Given the description of an element on the screen output the (x, y) to click on. 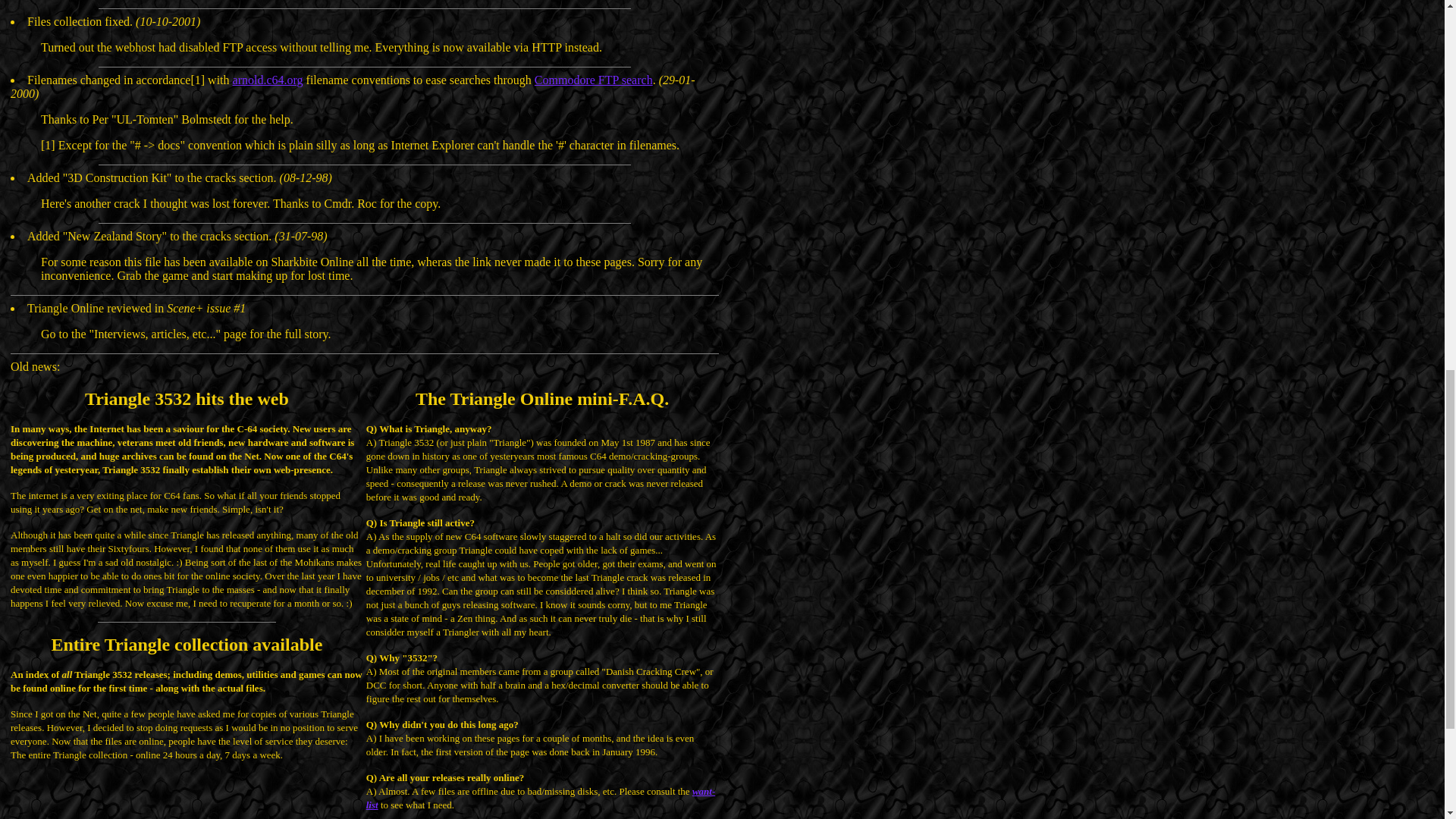
arnold.c64.org (267, 79)
want-list (540, 797)
Commodore FTP search (593, 79)
